Given the description of an element on the screen output the (x, y) to click on. 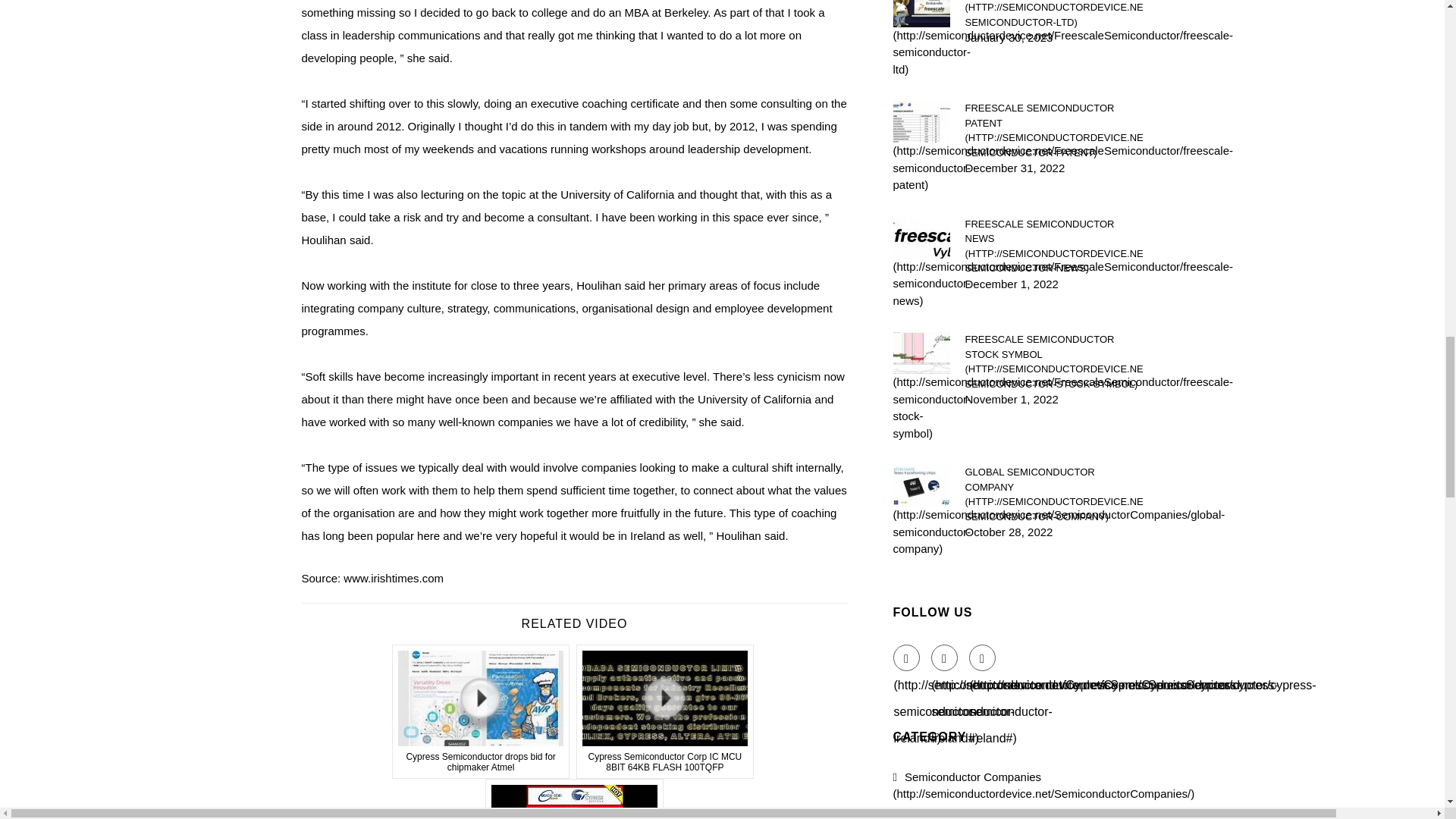
Video temporarily unavailable (480, 711)
Facebook (906, 657)
View this video from YouTube (665, 711)
View all posts filed under Semiconductor Companies (1044, 785)
View this video from Vimeo (573, 798)
Twitter (944, 657)
Google Plus (982, 657)
